Given the description of an element on the screen output the (x, y) to click on. 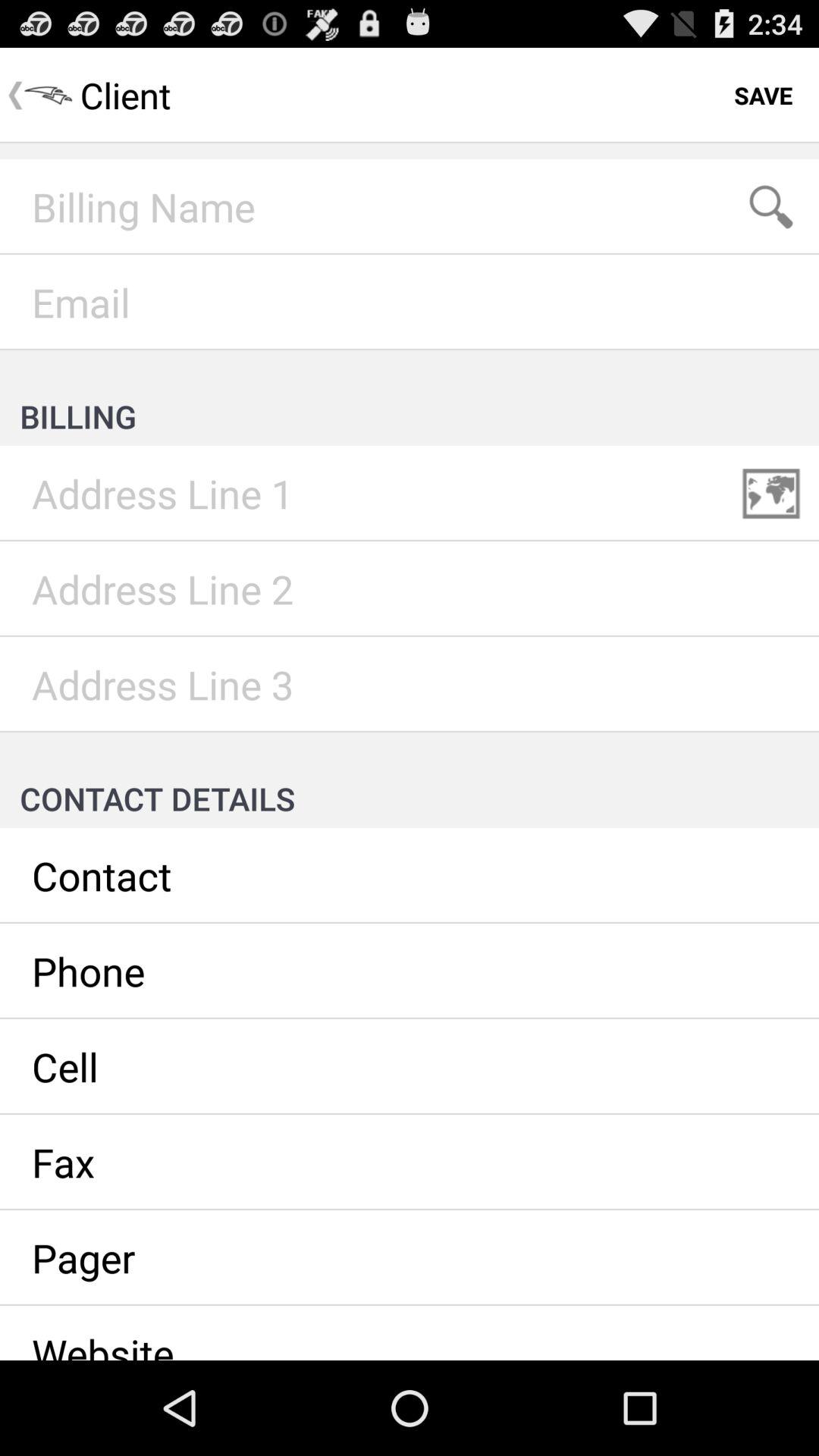
write your second address line (409, 589)
